Given the description of an element on the screen output the (x, y) to click on. 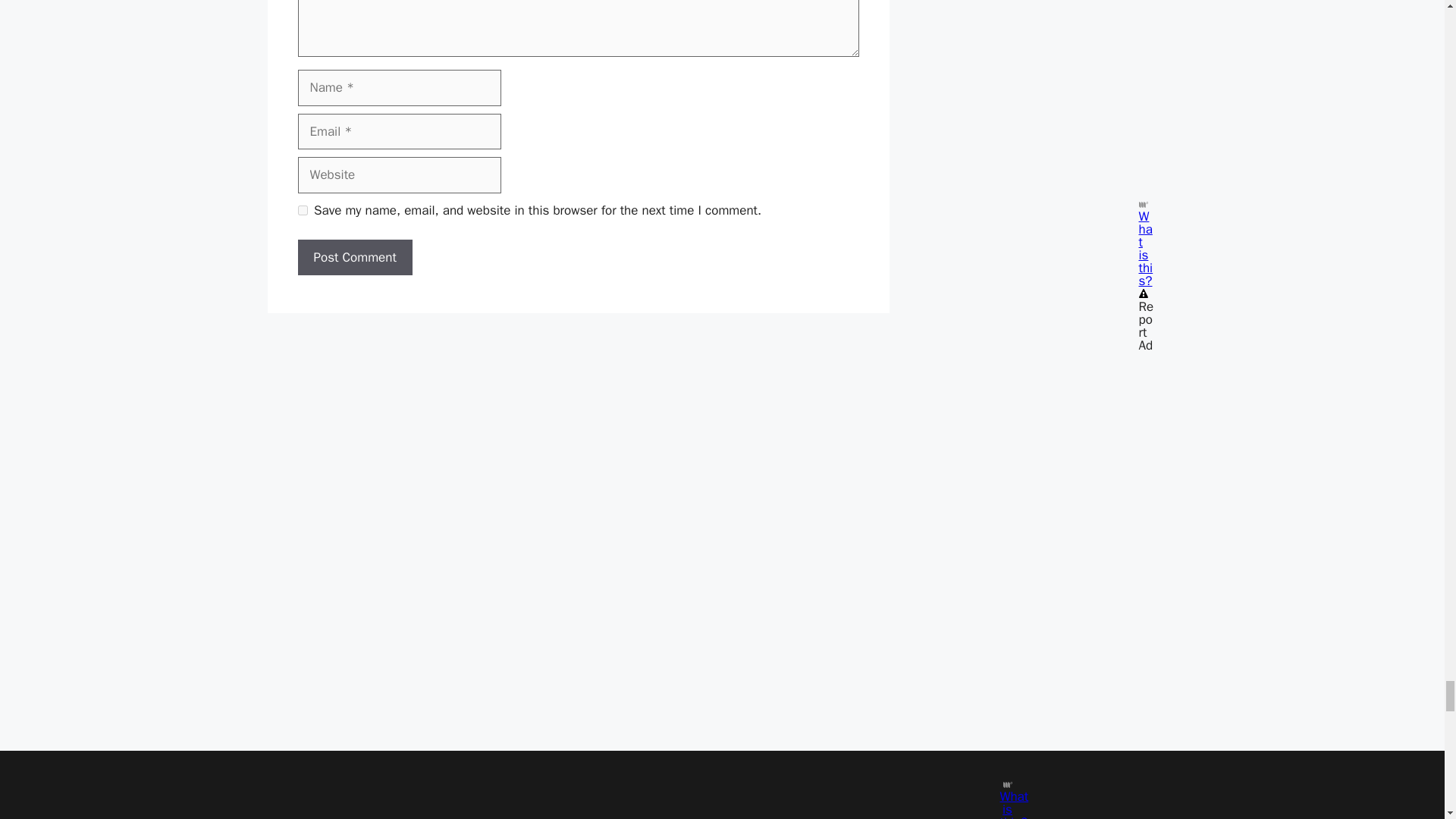
Post Comment (354, 257)
yes (302, 210)
